Given the description of an element on the screen output the (x, y) to click on. 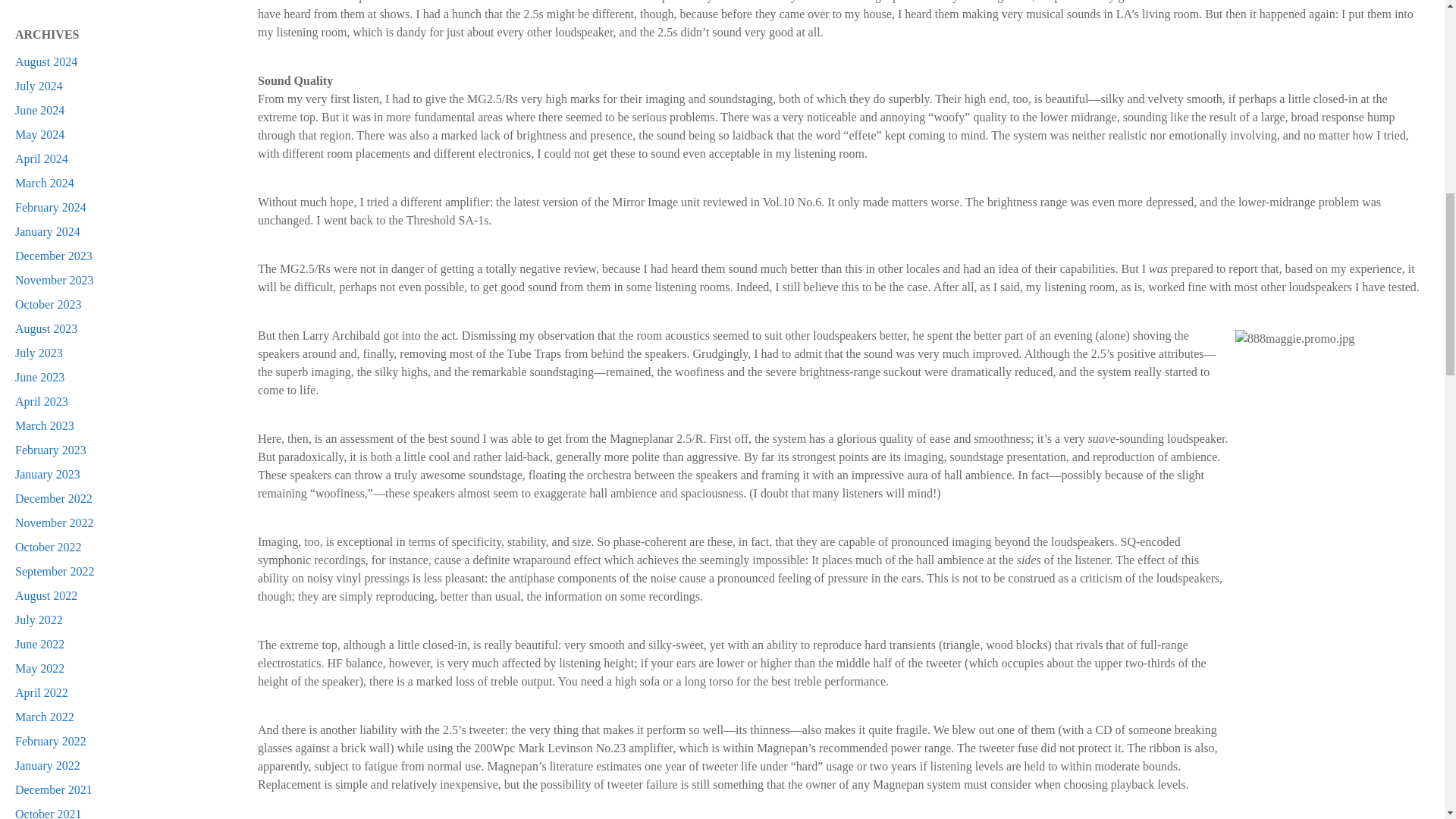
February 2024 (49, 206)
March 2023 (44, 425)
March 2024 (44, 182)
April 2023 (41, 400)
August 2023 (45, 328)
July 2024 (38, 85)
January 2024 (47, 231)
July 2023 (38, 352)
December 2023 (53, 255)
October 2023 (47, 304)
November 2023 (54, 279)
February 2023 (49, 449)
August 2024 (45, 61)
June 2023 (39, 377)
June 2024 (39, 110)
